Given the description of an element on the screen output the (x, y) to click on. 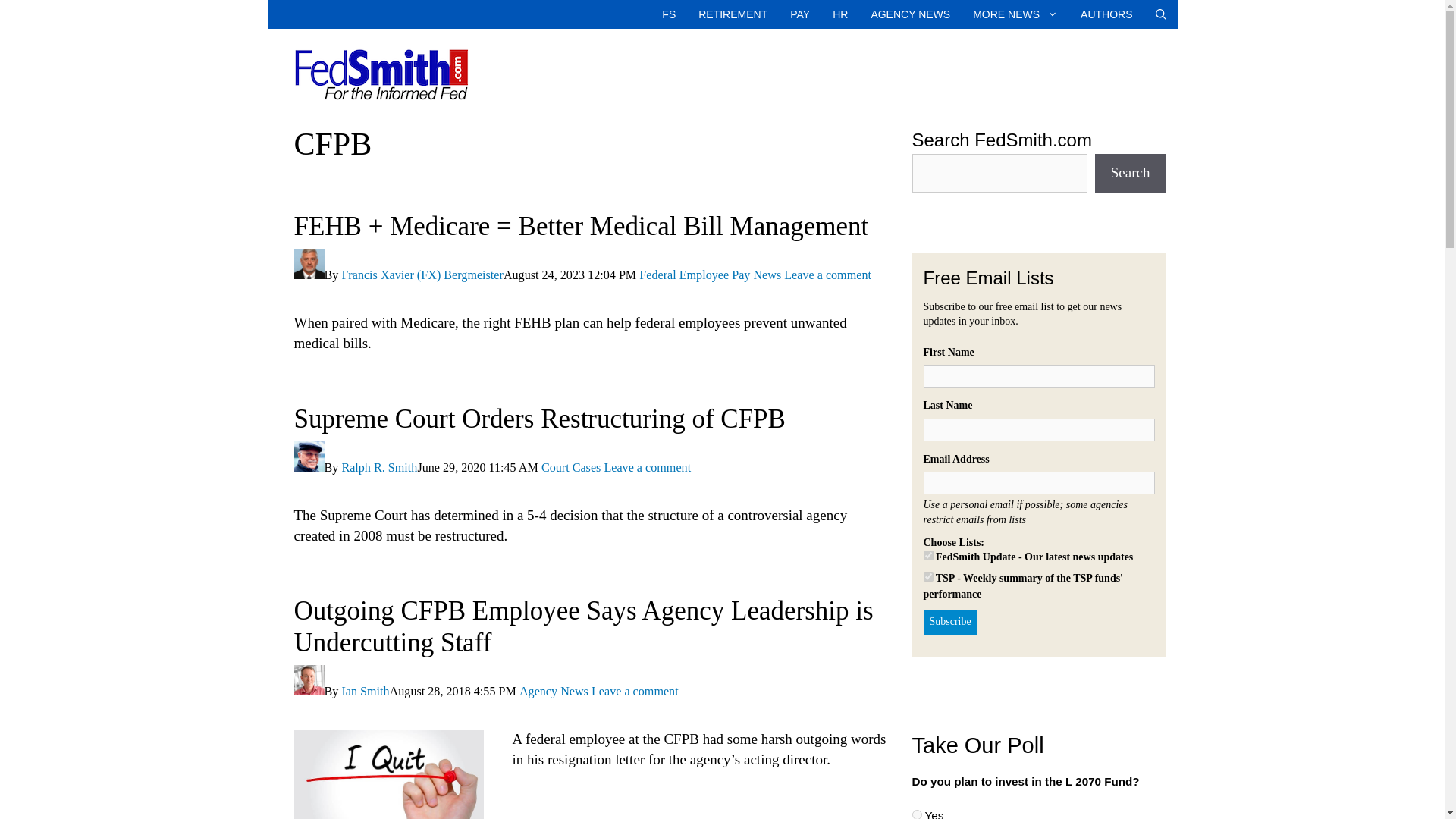
Ralph R. Smith (378, 467)
Federal Employee Retirement News (732, 14)
View all articles by Ralph R. Smith (378, 467)
Federal Employee Pay News (709, 274)
Ian Smith (364, 690)
MORE NEWS (1014, 14)
Leave a comment (647, 467)
Leave a comment (827, 274)
PAY (799, 14)
AUTHORS (1105, 14)
Agency News (553, 690)
View all articles by Ian Smith (364, 690)
AGENCY NEWS (909, 14)
Court Cases (570, 467)
Federal Human Resources News (840, 14)
